Given the description of an element on the screen output the (x, y) to click on. 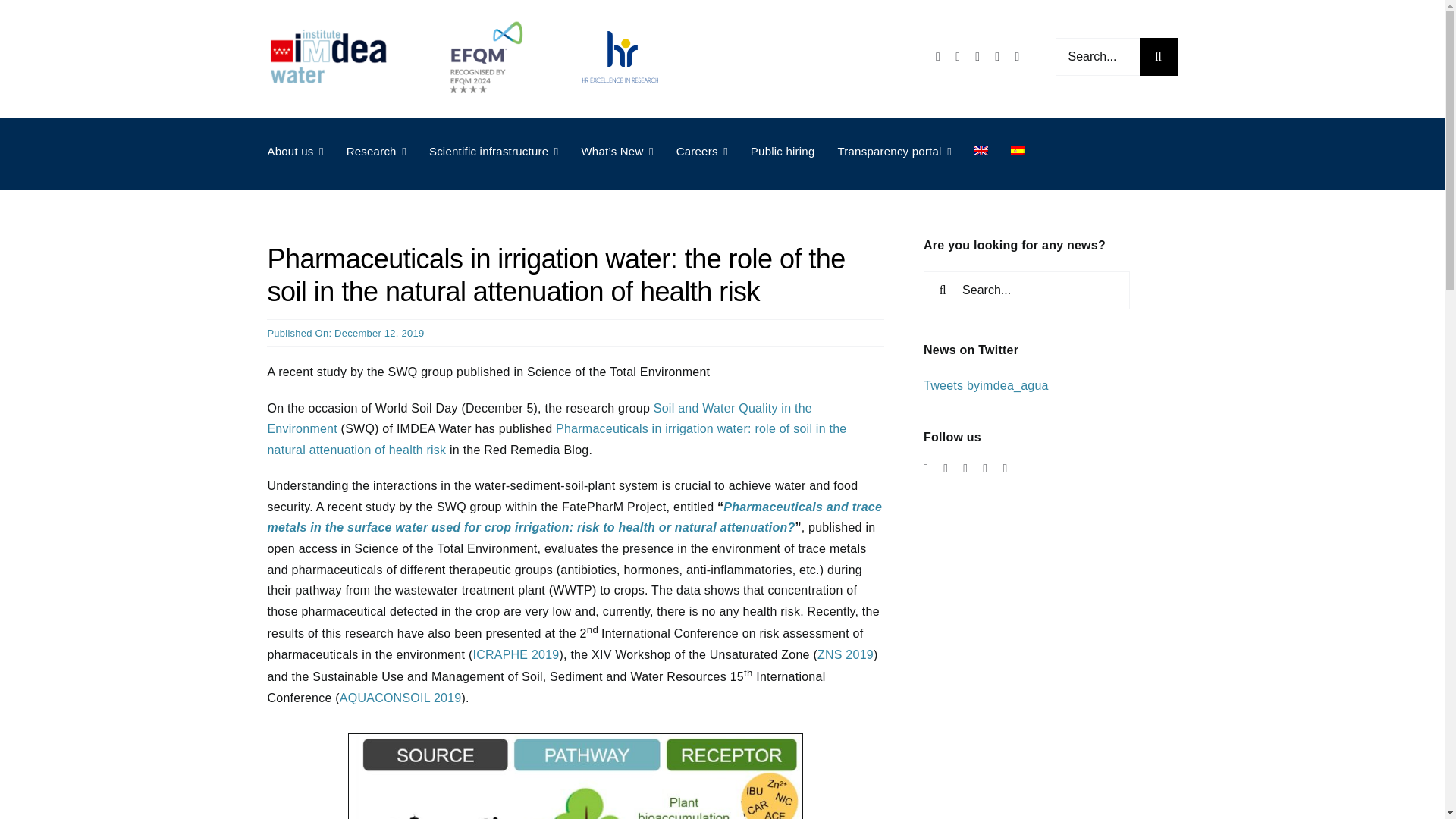
Research (376, 151)
About us (294, 151)
Scientific infrastructure (494, 151)
